Given the description of an element on the screen output the (x, y) to click on. 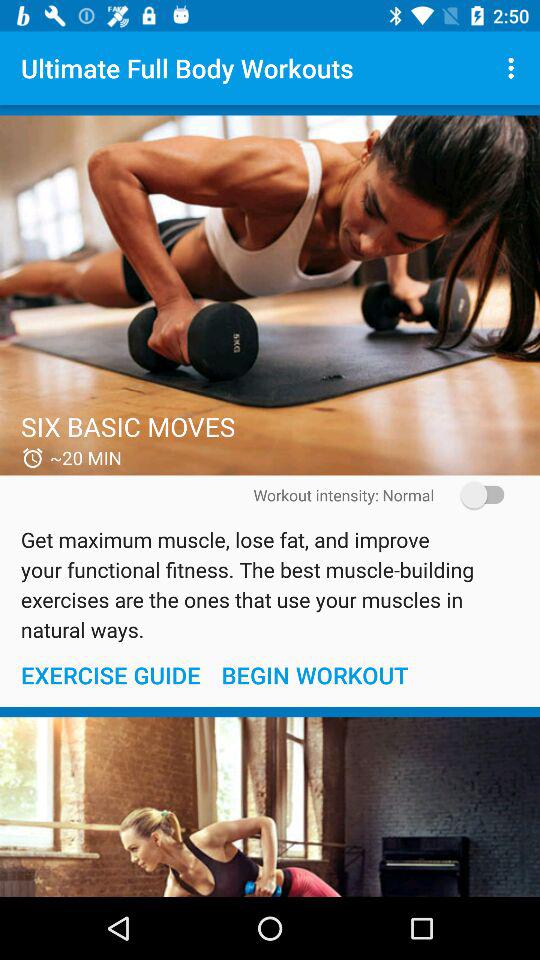
turn off begin workout (314, 674)
